Given the description of an element on the screen output the (x, y) to click on. 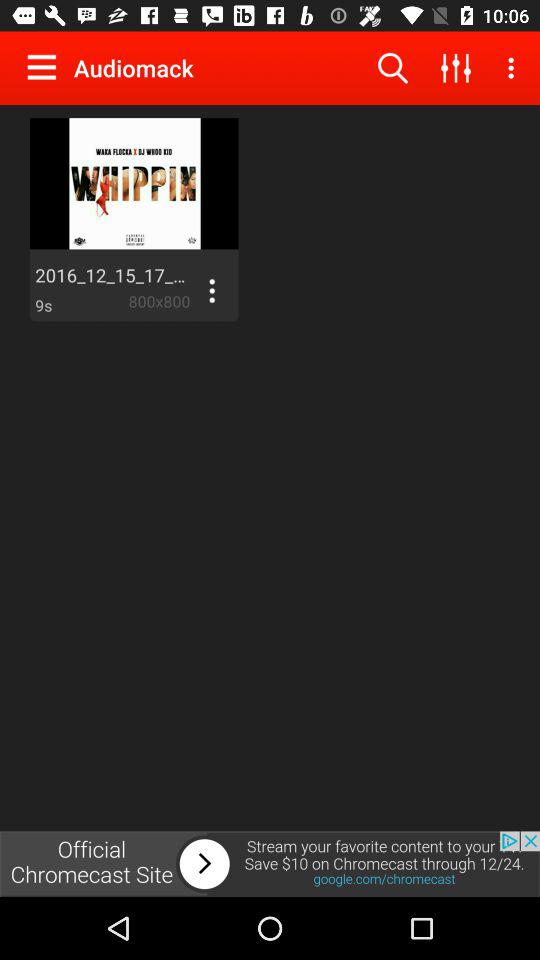
display options (211, 291)
